Given the description of an element on the screen output the (x, y) to click on. 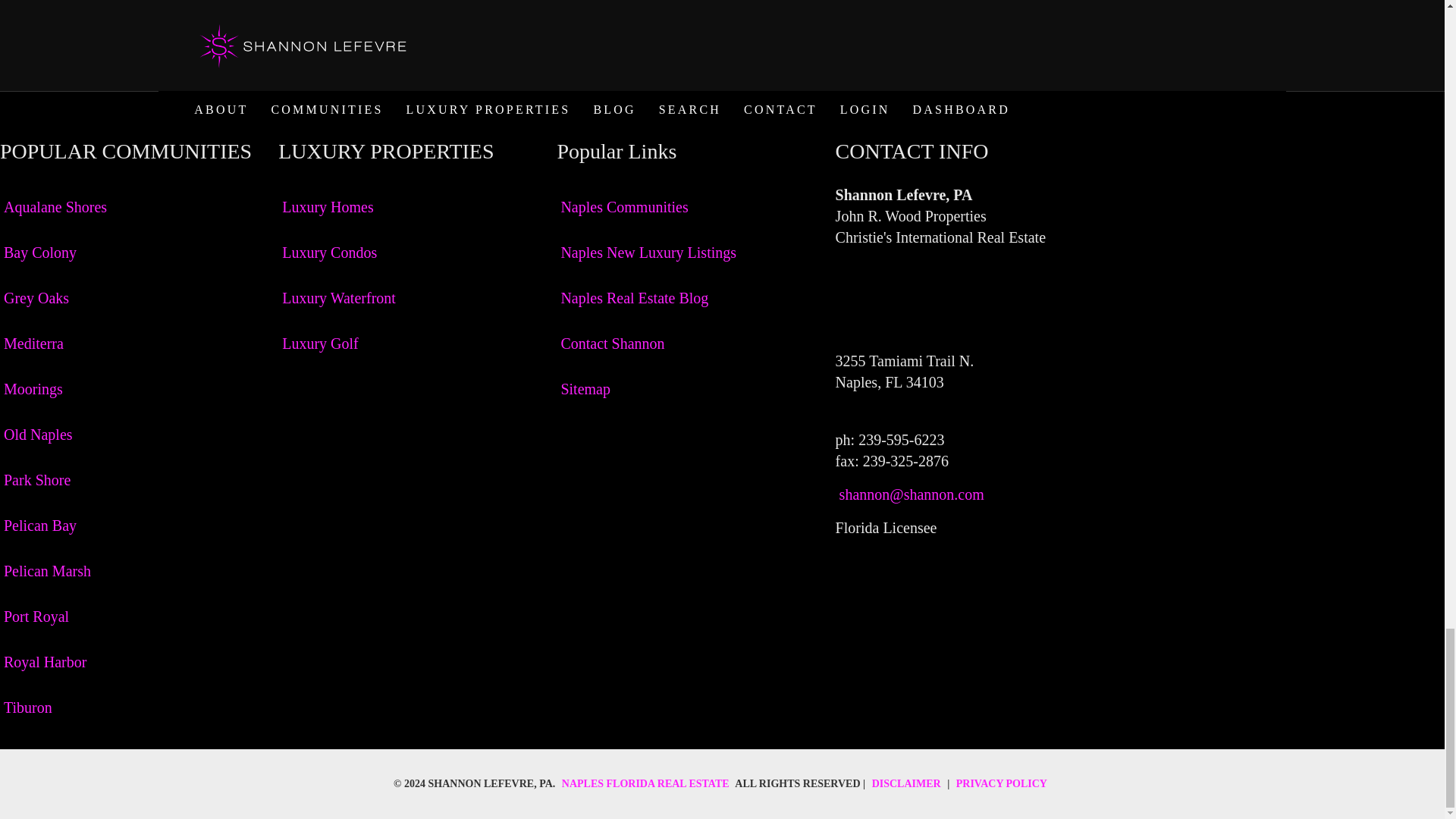
Send this contact form (408, 54)
